Given the description of an element on the screen output the (x, y) to click on. 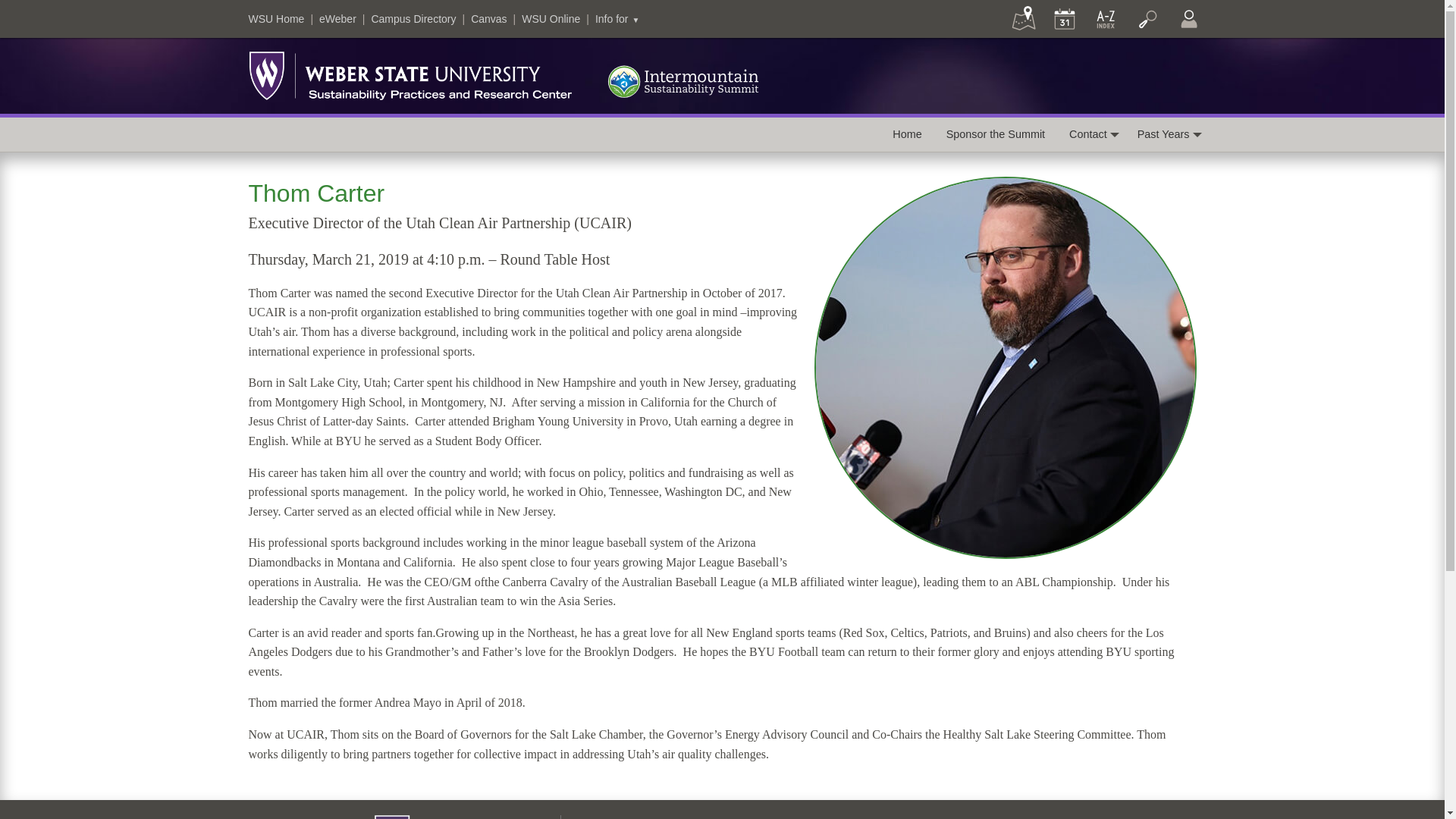
WSU Online (550, 19)
Info for (617, 19)
eWeber (337, 19)
WSU Home (276, 19)
Canvas (488, 19)
Campus Directory (413, 19)
